Given the description of an element on the screen output the (x, y) to click on. 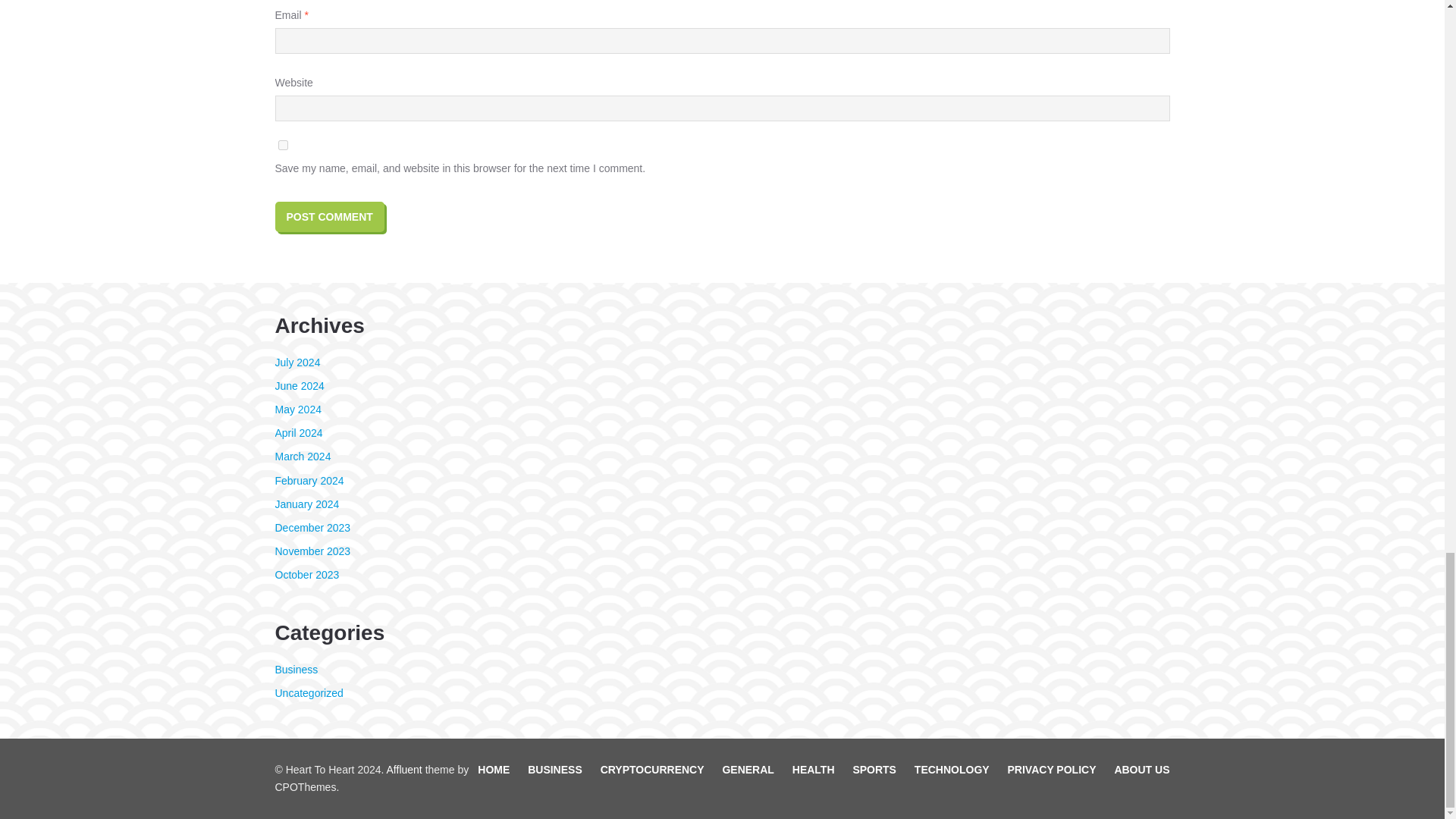
yes (282, 144)
June 2024 (299, 386)
Post Comment (329, 216)
July 2024 (297, 362)
May 2024 (297, 409)
Post Comment (329, 216)
